Given the description of an element on the screen output the (x, y) to click on. 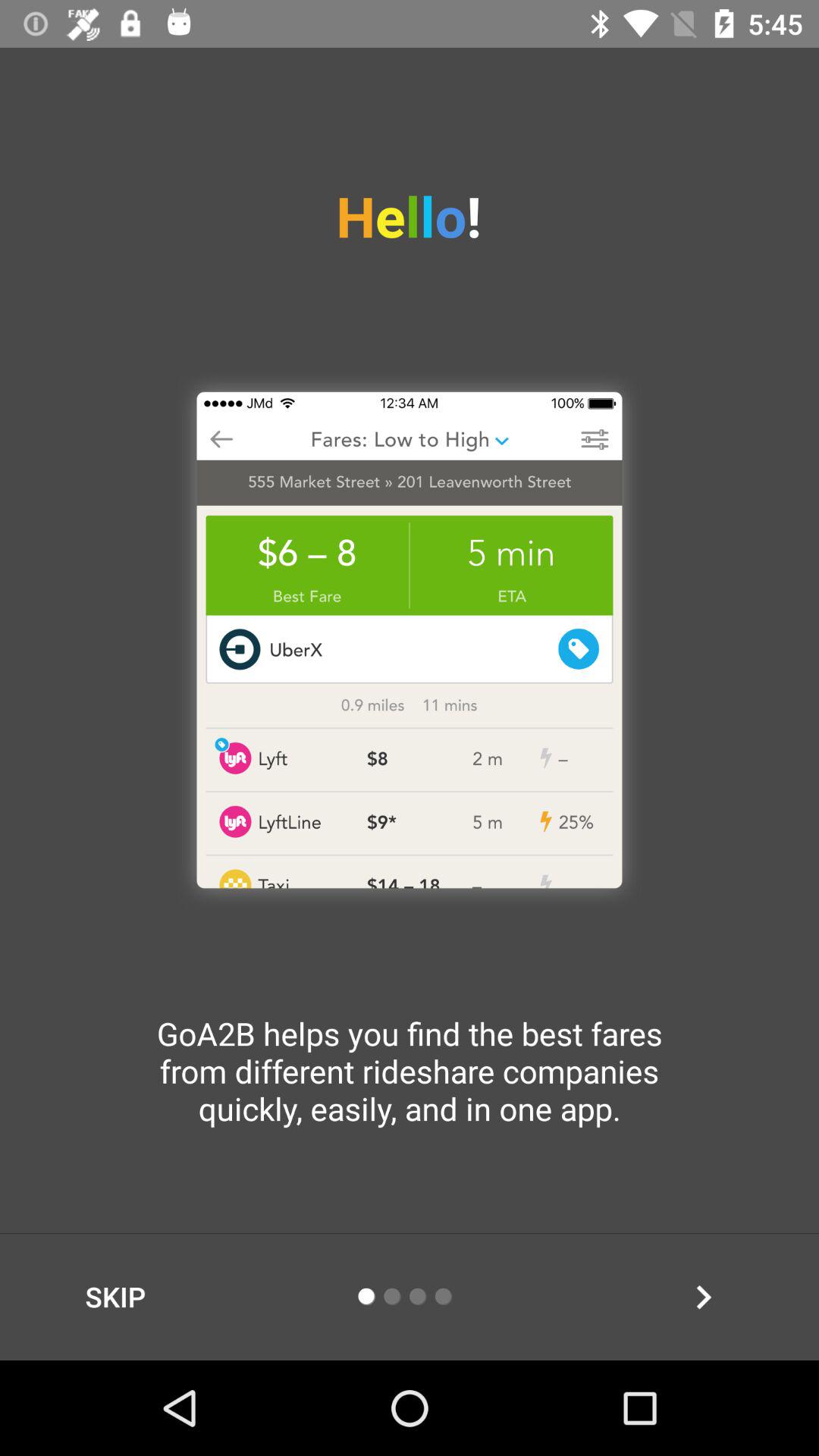
open the item below goa2b helps you (114, 1296)
